Given the description of an element on the screen output the (x, y) to click on. 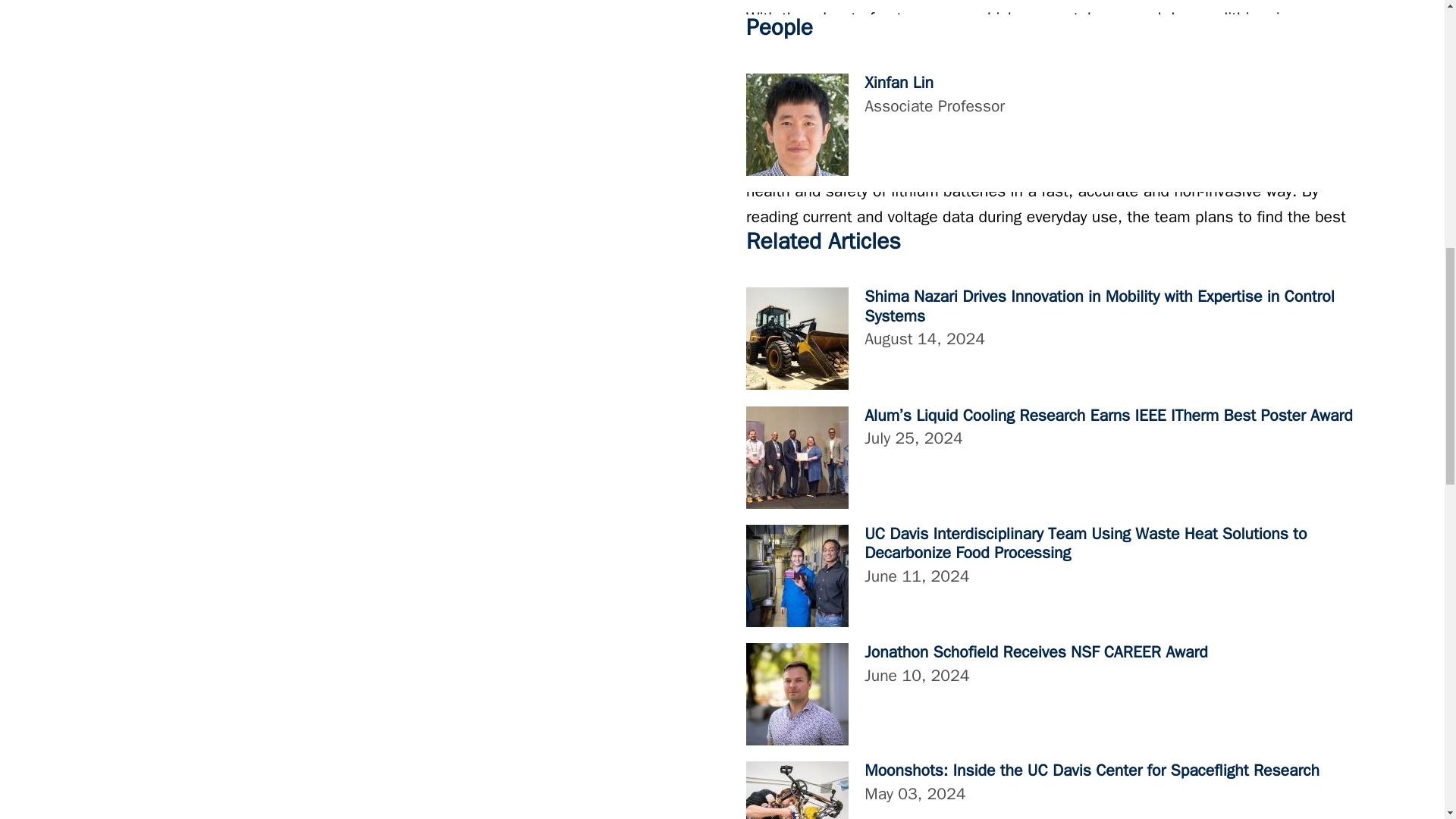
Friday, May 3, 2024 - 9:56am (915, 792)
Tuesday, June 11, 2024 - 1:20pm (916, 575)
Thursday, July 25, 2024 - 2:50pm (913, 437)
Wednesday, August 14, 2024 - 10:44am (924, 338)
Monday, June 10, 2024 - 9:54am (916, 674)
